Given the description of an element on the screen output the (x, y) to click on. 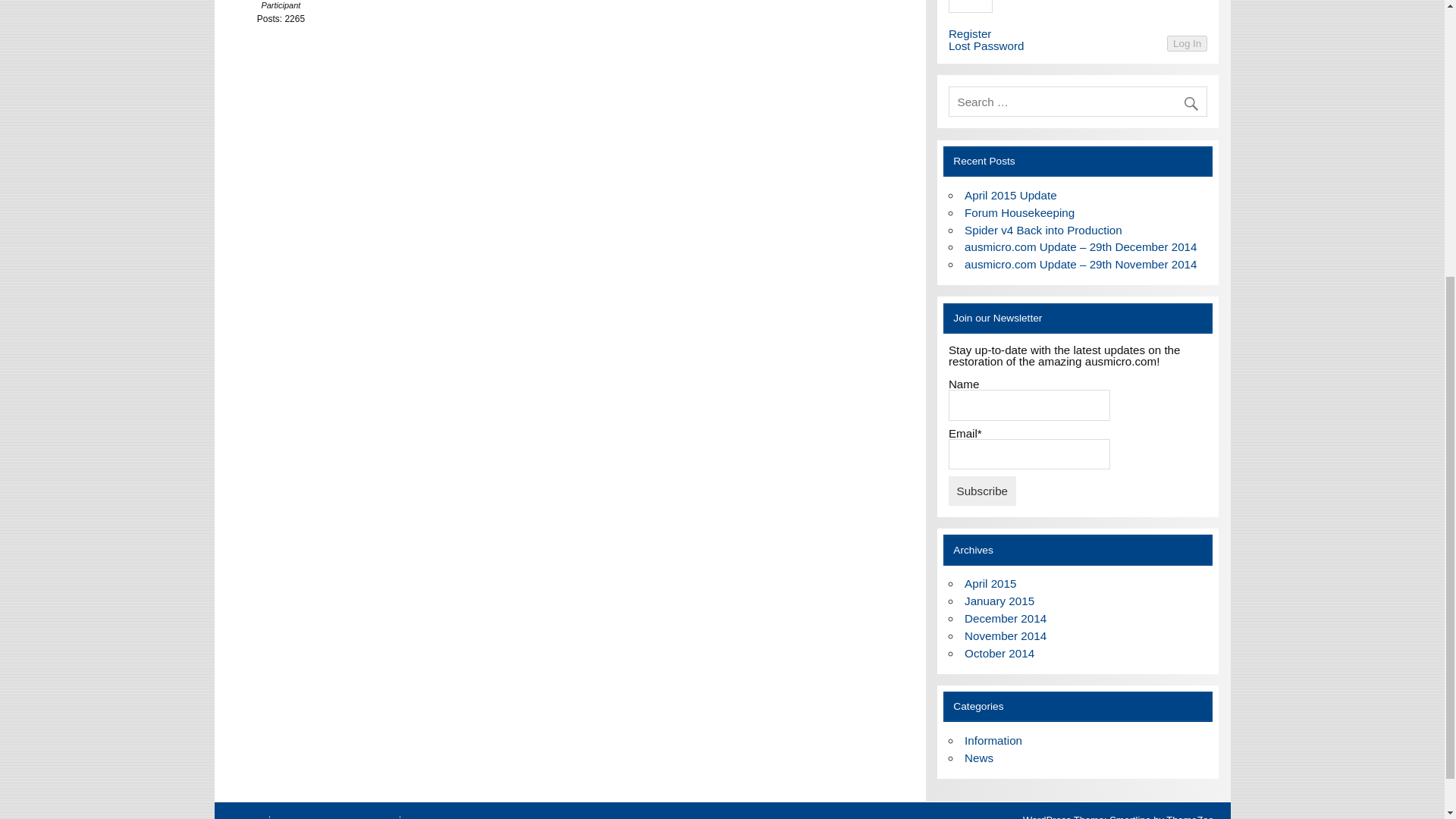
January 2015 (998, 600)
Subscribe (982, 490)
Log In (1187, 43)
November 2014 (1004, 635)
Register (970, 33)
News (977, 757)
April 2015 (989, 583)
Register (970, 33)
Forum Housekeeping (1018, 212)
April 2015 Update (1010, 195)
